Given the description of an element on the screen output the (x, y) to click on. 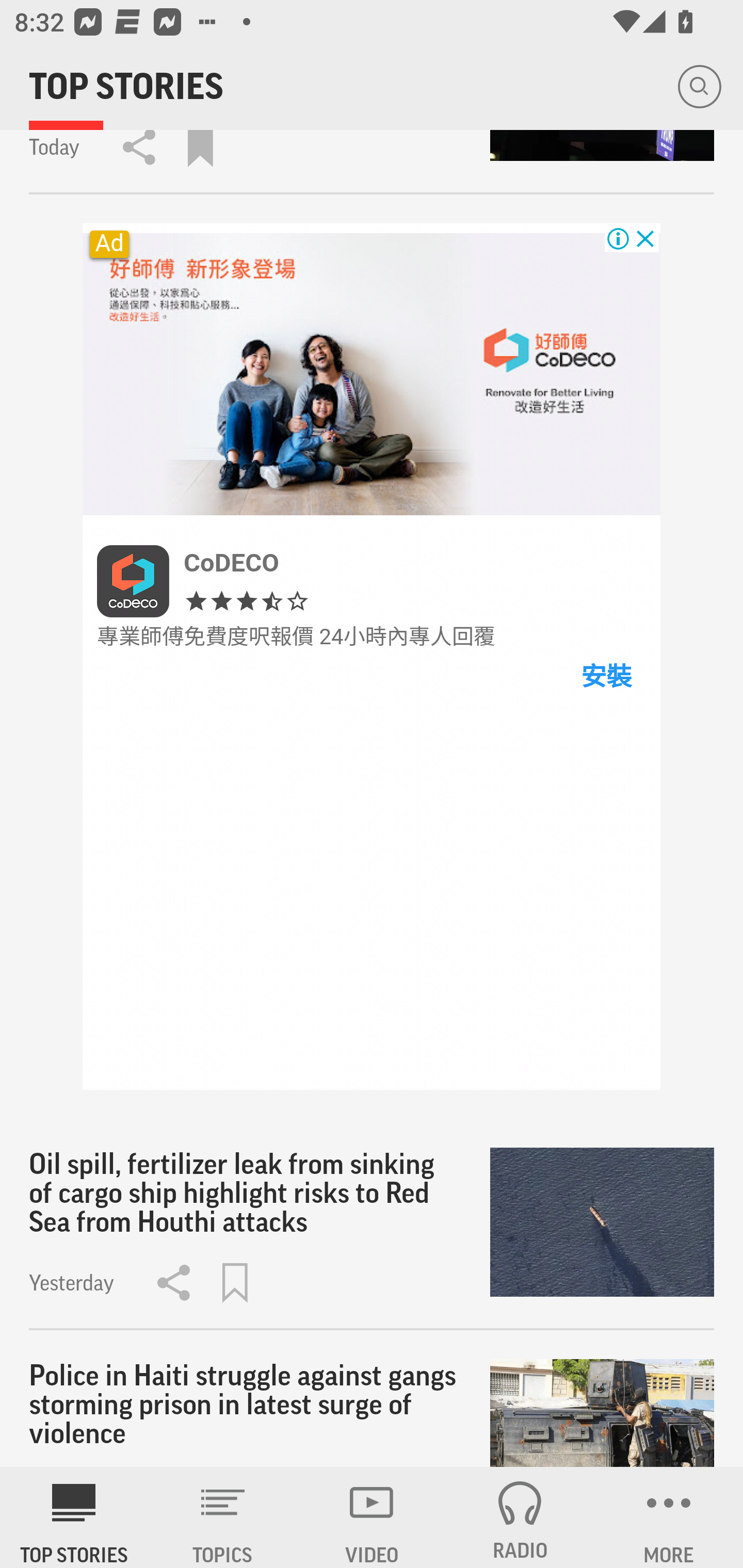
CoDECO (231, 561)
專業師傅免費度呎報價 24小時內專人回覆 (296, 637)
安裝 (604, 676)
AP News TOP STORIES (74, 1517)
TOPICS (222, 1517)
VIDEO (371, 1517)
RADIO (519, 1517)
MORE (668, 1517)
